Given the description of an element on the screen output the (x, y) to click on. 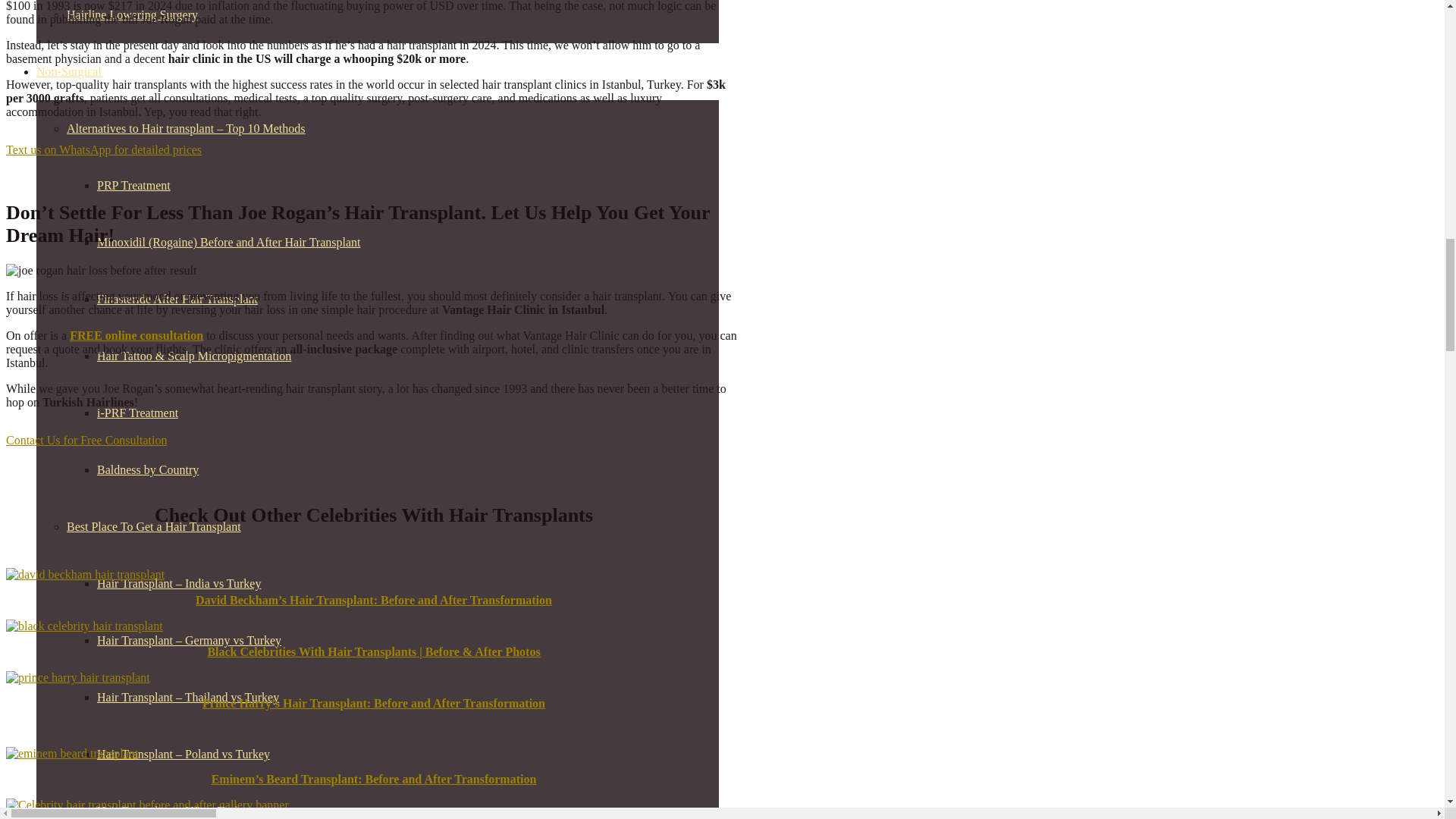
i-PRF Treatment (137, 412)
Contact Us (86, 440)
prince harry hair transplant (77, 677)
Best Place To Get a Hair Transplant (153, 526)
david-beckham-hair-transplant (84, 574)
Non-Surgical (68, 71)
Finasteride After Hair Transplant (177, 298)
black-celebrity-hair-transplant.jpg (84, 626)
Celebrity hair transplant before and after gallery banner (146, 805)
Baldness by Country (147, 469)
